Given the description of an element on the screen output the (x, y) to click on. 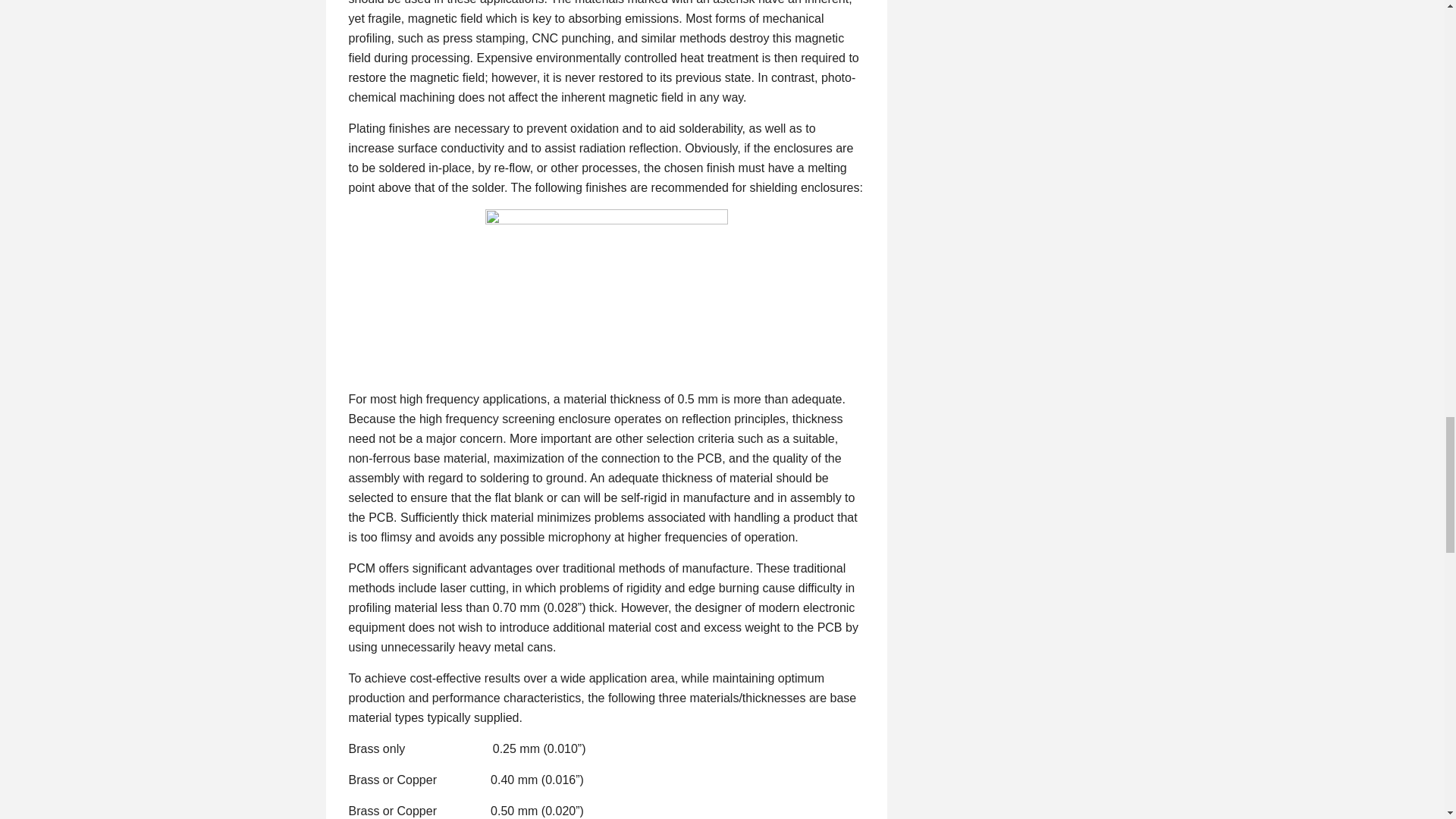
Warnertable (606, 290)
